Given the description of an element on the screen output the (x, y) to click on. 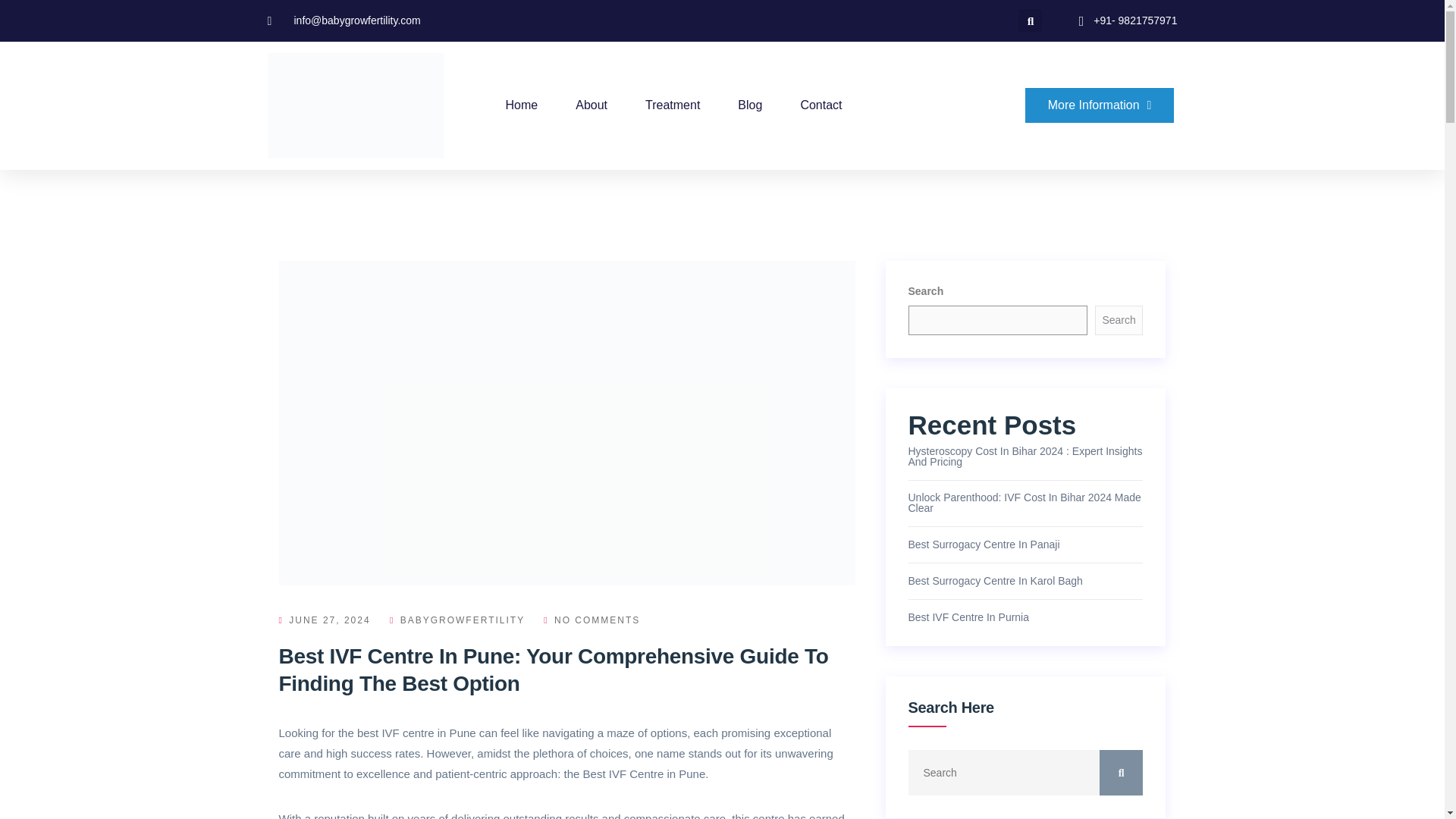
Contact (820, 104)
NO COMMENTS (591, 620)
Treatment (672, 104)
BABYGROWFERTILITY (457, 620)
More Information (1099, 104)
About (591, 104)
Home (521, 104)
